Given the description of an element on the screen output the (x, y) to click on. 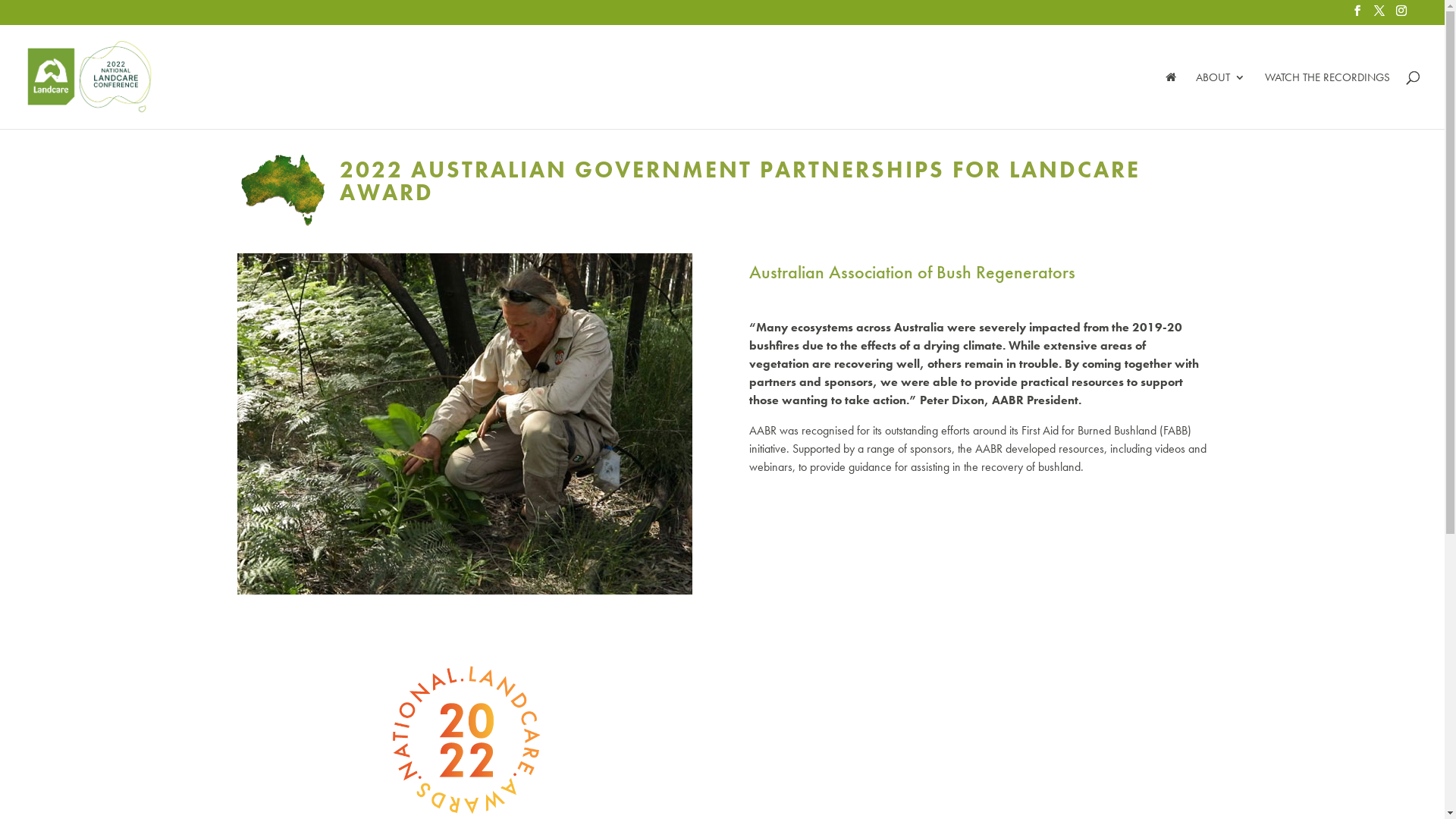
ABOUT Element type: text (1220, 99)
WATCH THE RECORDINGS Element type: text (1327, 99)
